Given the description of an element on the screen output the (x, y) to click on. 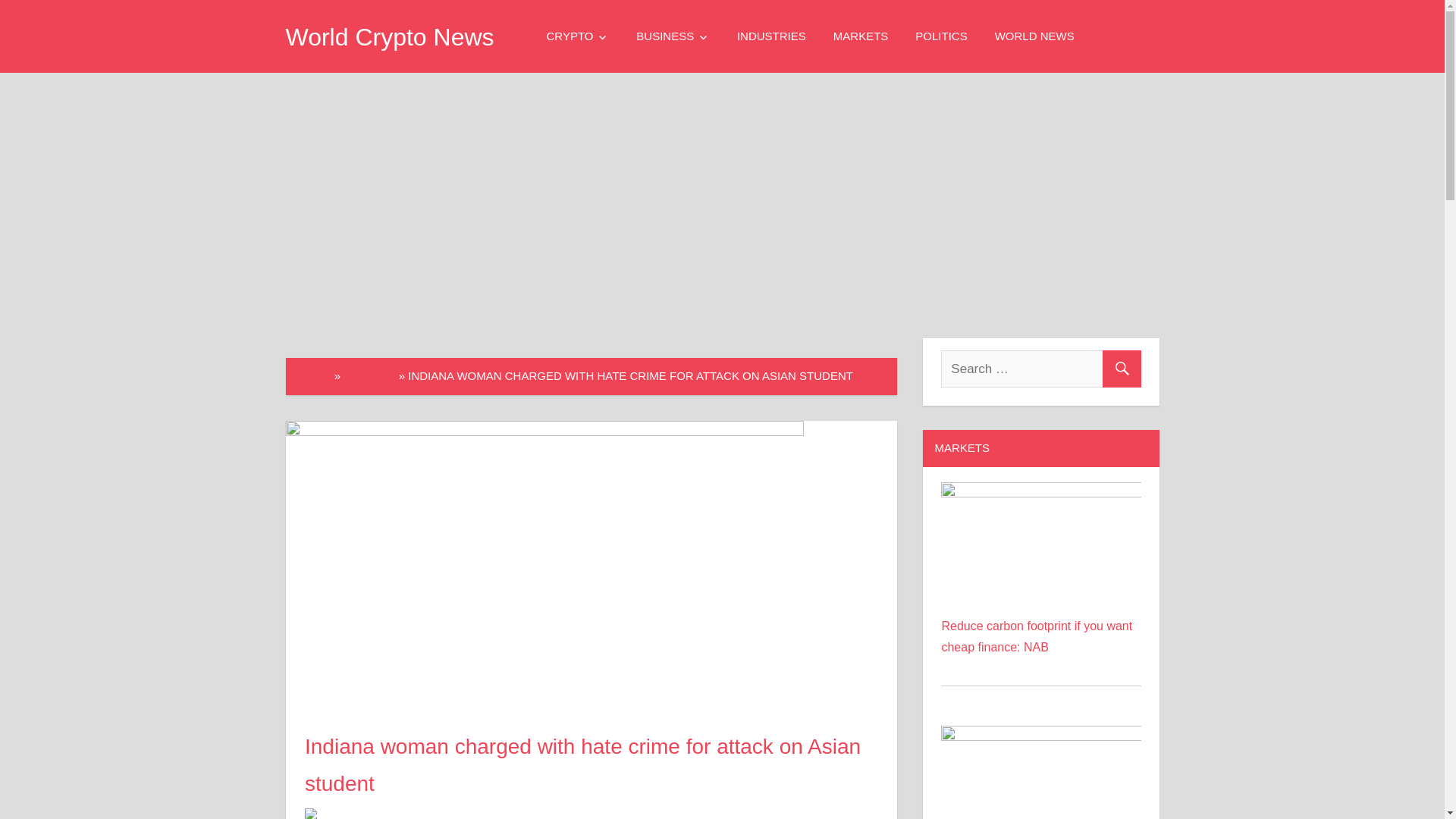
Search for: (1040, 368)
INDUSTRIES (771, 36)
Gold Futures Settle Notably Higher As Dollar Turns Weak (1040, 772)
Reduce carbon footprint if you want cheap finance: NAB (1036, 636)
HOME (314, 375)
Reduce carbon footprint if you want cheap finance: NAB (1040, 538)
Gold Futures Settle Notably Higher As Dollar Turns Weak (1040, 735)
Reduce carbon footprint if you want cheap finance: NAB (1040, 492)
WORLD NEWS (1034, 36)
World Crypto News (389, 36)
